Given the description of an element on the screen output the (x, y) to click on. 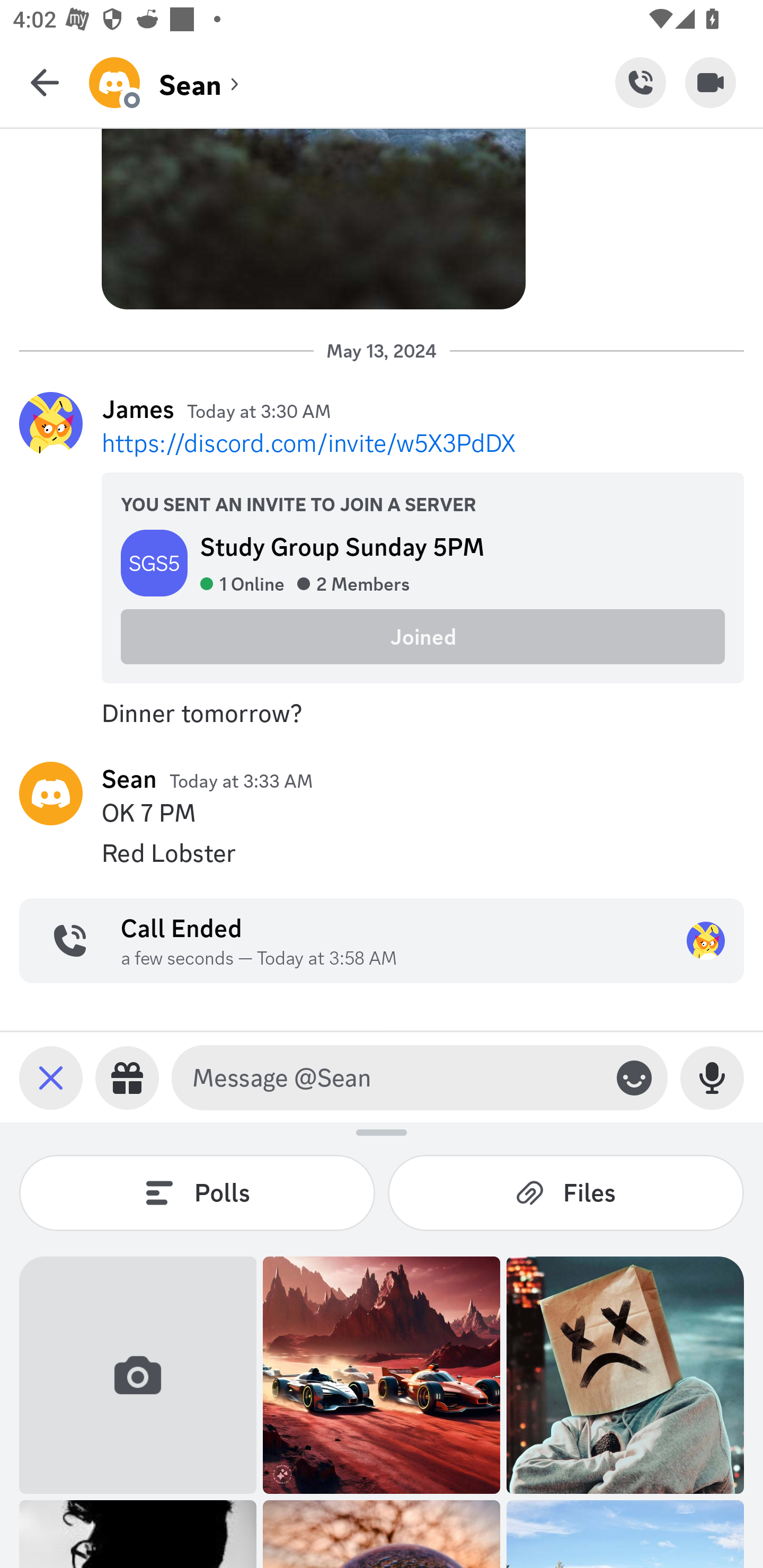
Sean (channel) Sean Sean (channel) (351, 82)
Back (44, 82)
Start Voice Call (640, 82)
Start Video Call (710, 82)
James (137, 409)
Joined (422, 636)
ssseannn007., Dinner tomorrow? Dinner tomorrow? (381, 713)
Sean (129, 778)
yuxiang.007, Red Lobster Red Lobster (381, 852)
Call Ended a few seconds — Today at 3:58 AM (381, 940)
Toggle media keyboard (50, 1077)
Send a gift (126, 1077)
Record Voice Message (711, 1077)
Message @Sean (395, 1077)
Toggle emoji keyboard (634, 1077)
Polls (197, 1192)
Files (565, 1192)
Camera (137, 1374)
Photo (381, 1374)
Photo (624, 1374)
